Given the description of an element on the screen output the (x, y) to click on. 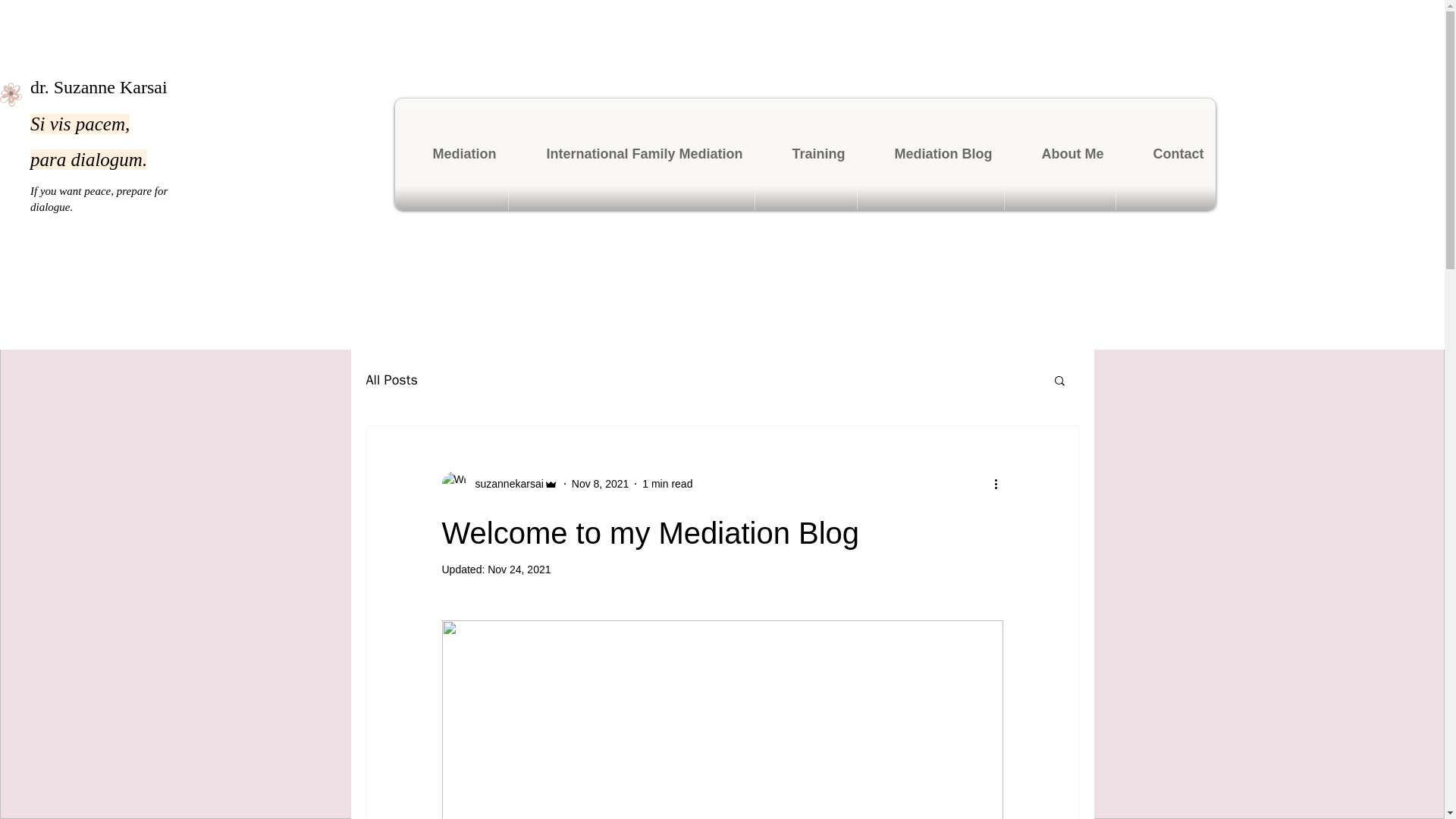
Mediation (450, 153)
suzannekarsai (504, 483)
Nov 24, 2021 (518, 569)
Nov 8, 2021 (600, 483)
About Me (1060, 153)
dr. Suzanne Karsai (98, 86)
Mediation Blog (930, 153)
1 min read (667, 483)
International Family Mediation (631, 153)
suzannekarsai (499, 483)
